Given the description of an element on the screen output the (x, y) to click on. 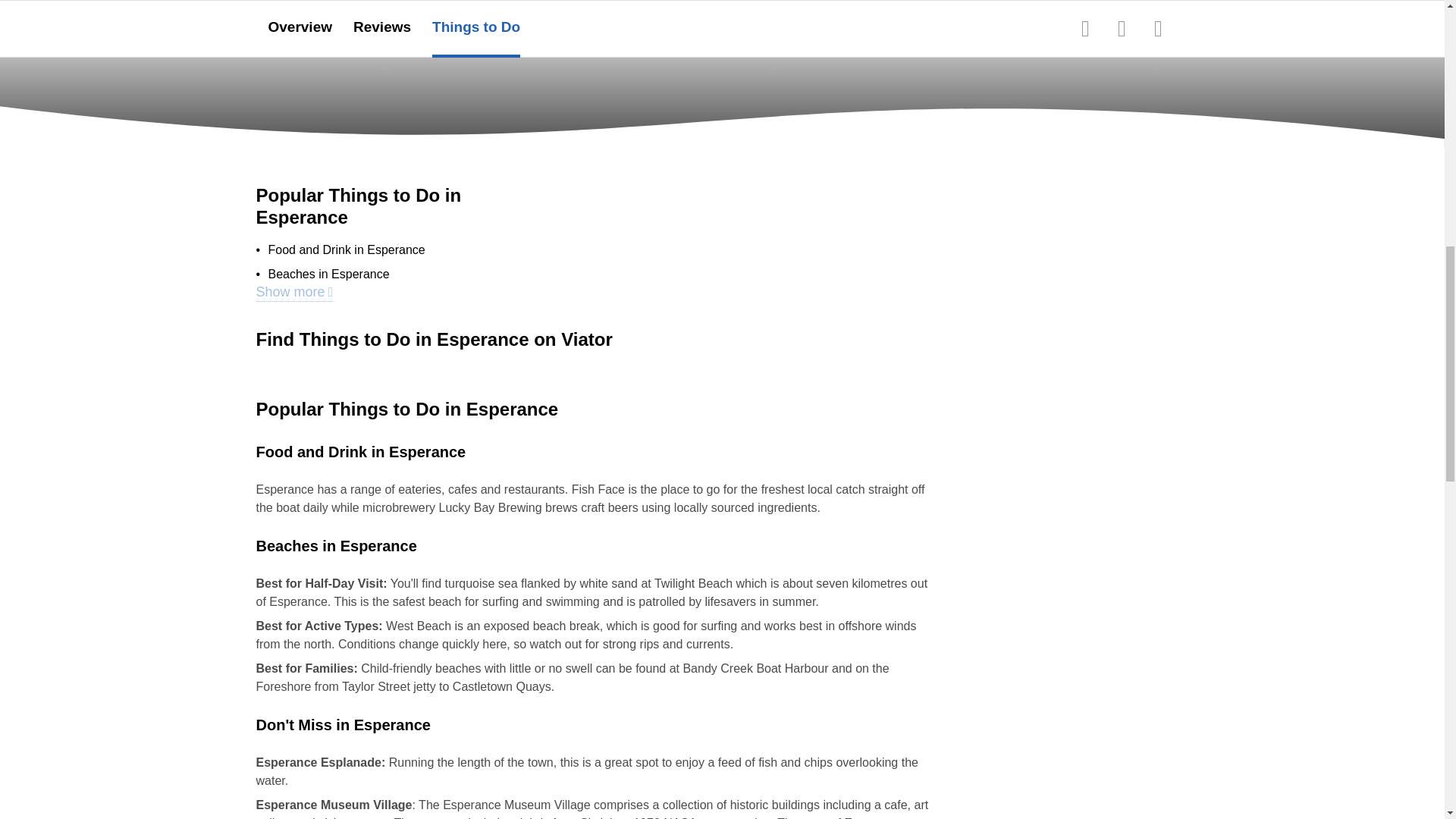
Show more (294, 7)
